Given the description of an element on the screen output the (x, y) to click on. 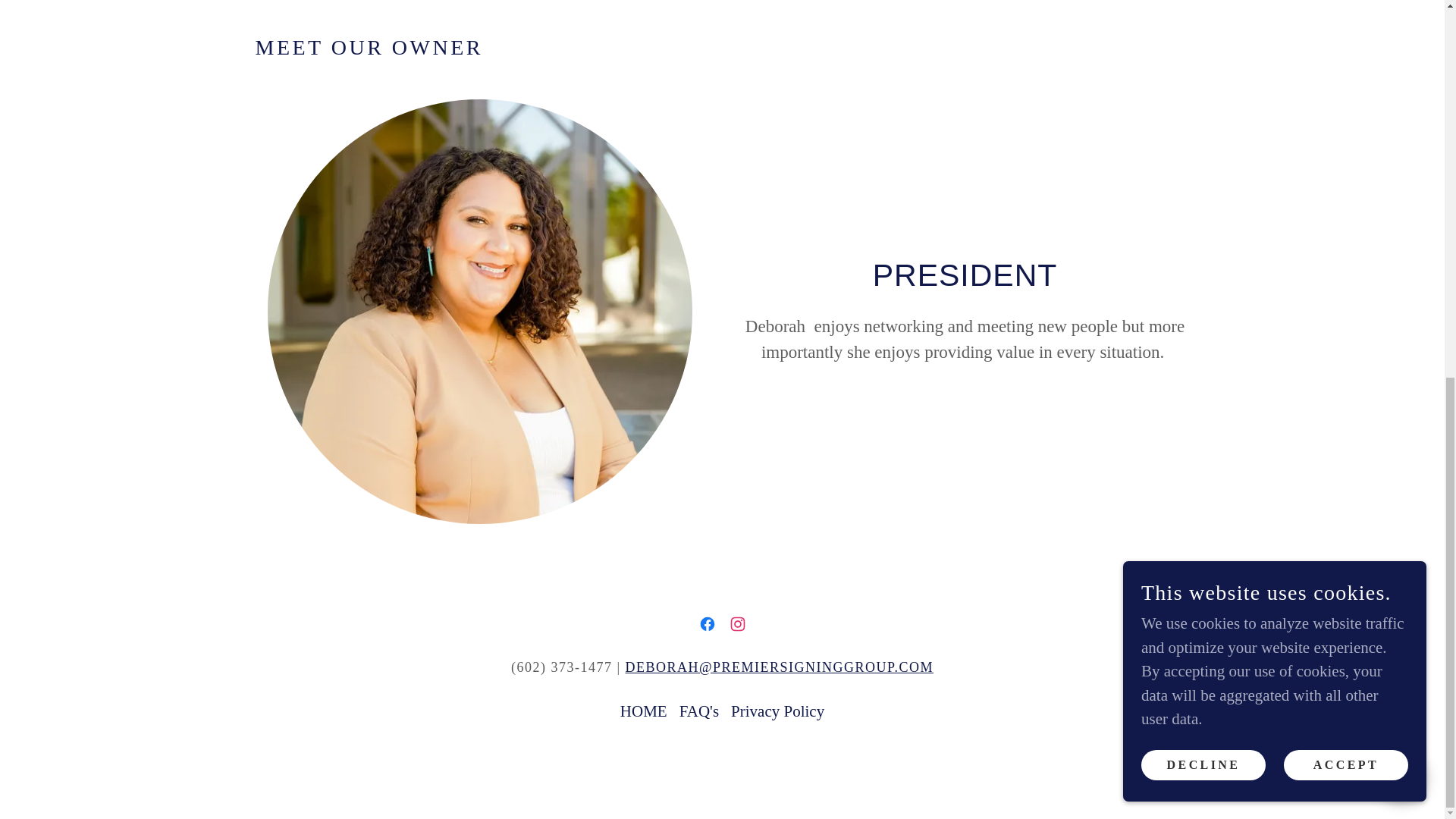
Privacy Policy (777, 711)
ACCEPT (1345, 65)
HOME (643, 711)
DECLINE (1203, 65)
FAQ's (698, 711)
